Given the description of an element on the screen output the (x, y) to click on. 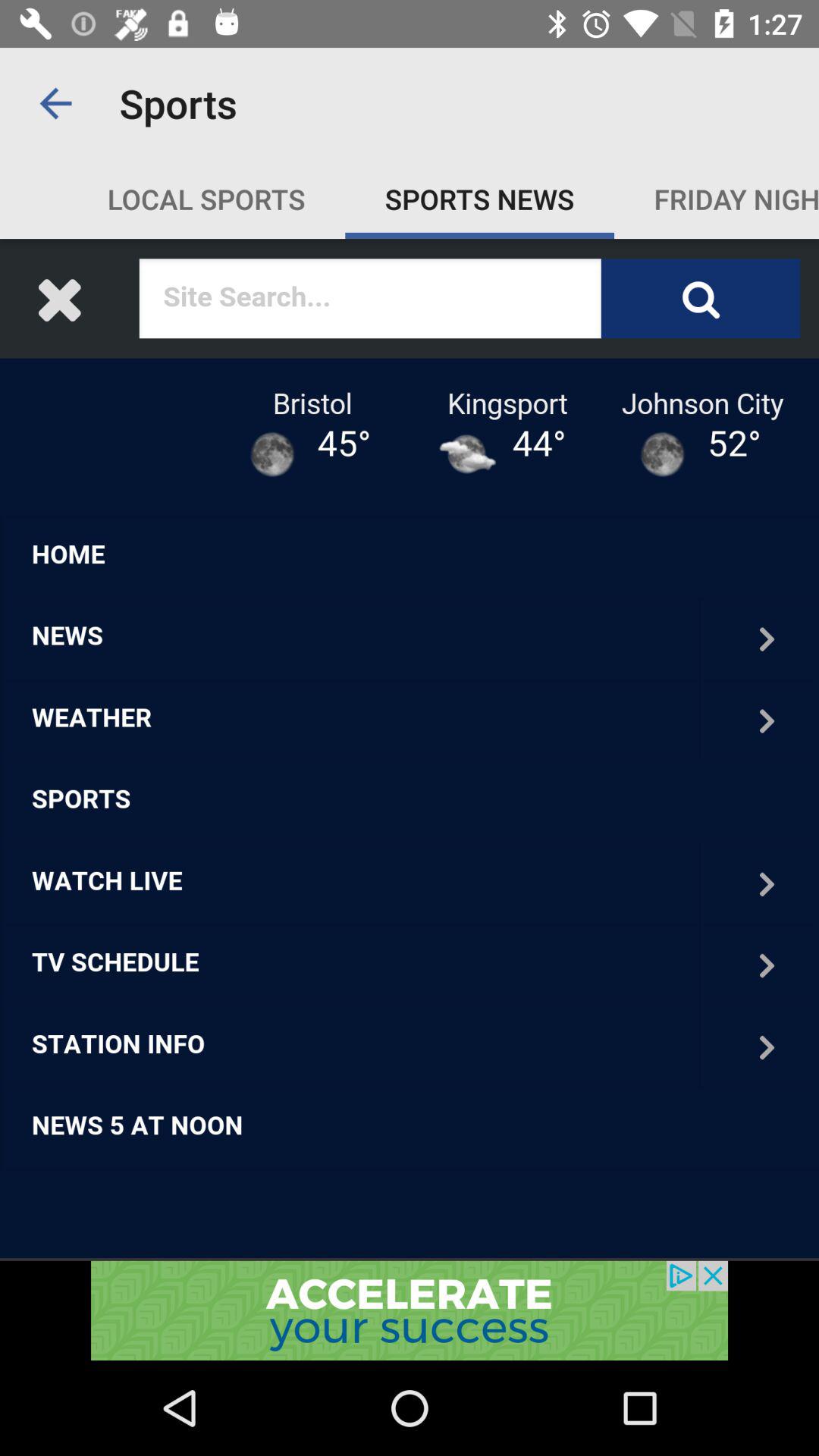
description (409, 749)
